Given the description of an element on the screen output the (x, y) to click on. 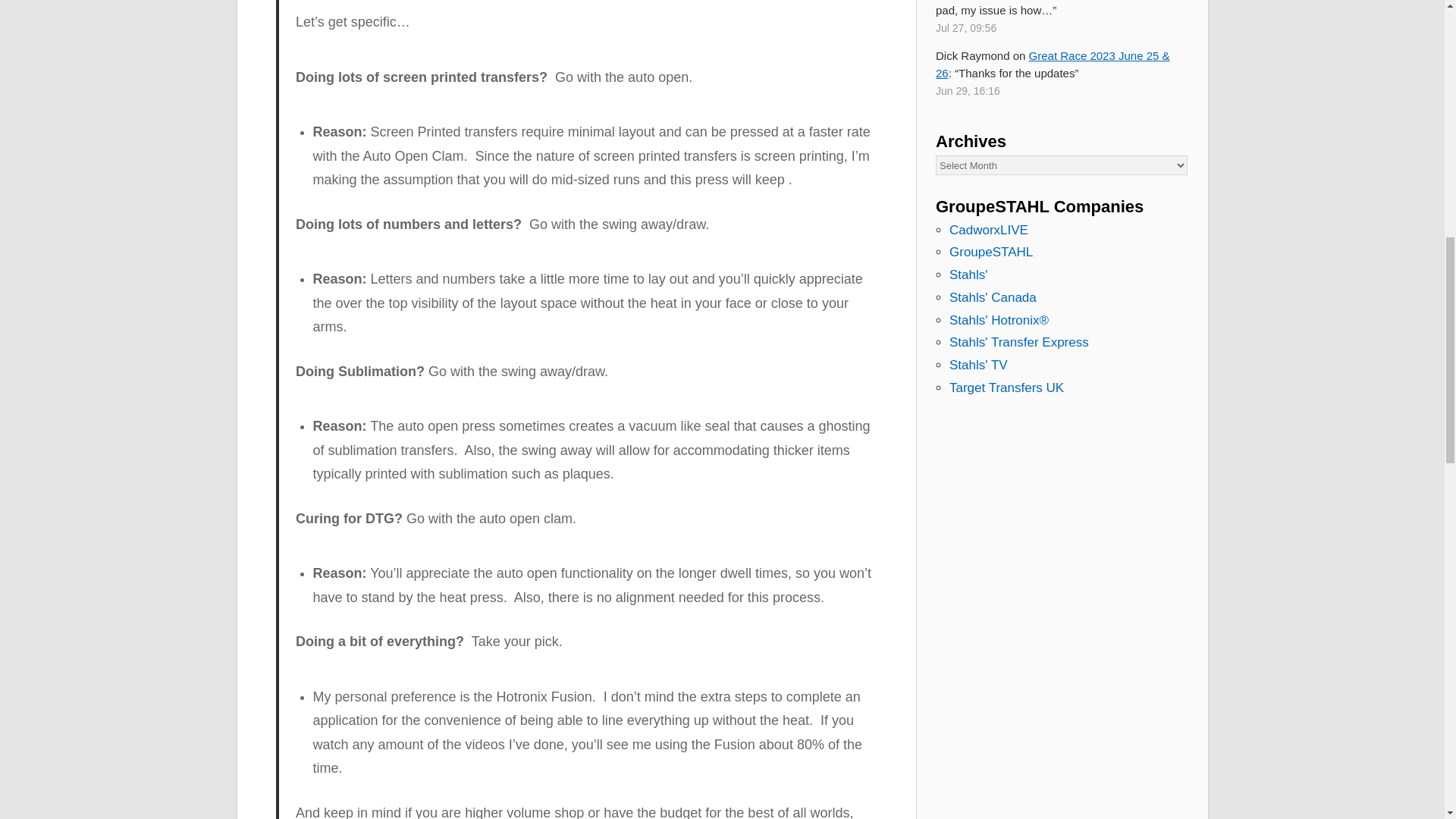
FREE Online Vector Design Software (988, 229)
Custom Transfers (1019, 341)
Innovative Heat Press Technology (998, 319)
Order product or request information (968, 274)
